Given the description of an element on the screen output the (x, y) to click on. 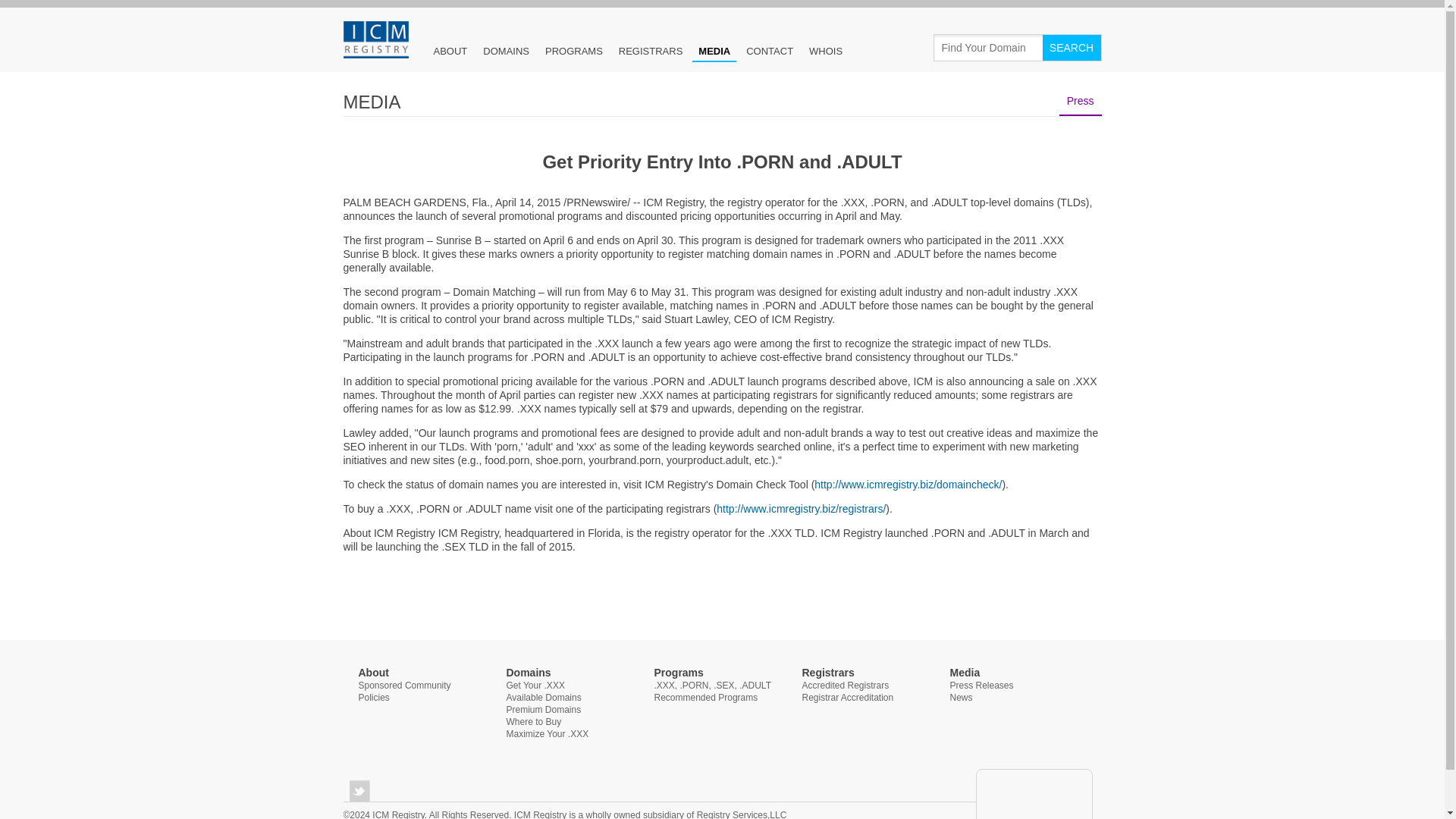
CONTACT (769, 49)
MEDIA (714, 51)
Get Your .XXX (535, 685)
Maximize Your .XXX (547, 733)
Press (1080, 101)
Registrar Accreditation (847, 697)
Recommended Programs (705, 697)
Accredited Registrars (845, 685)
Premium Domains (543, 709)
Policies (373, 697)
